Given the description of an element on the screen output the (x, y) to click on. 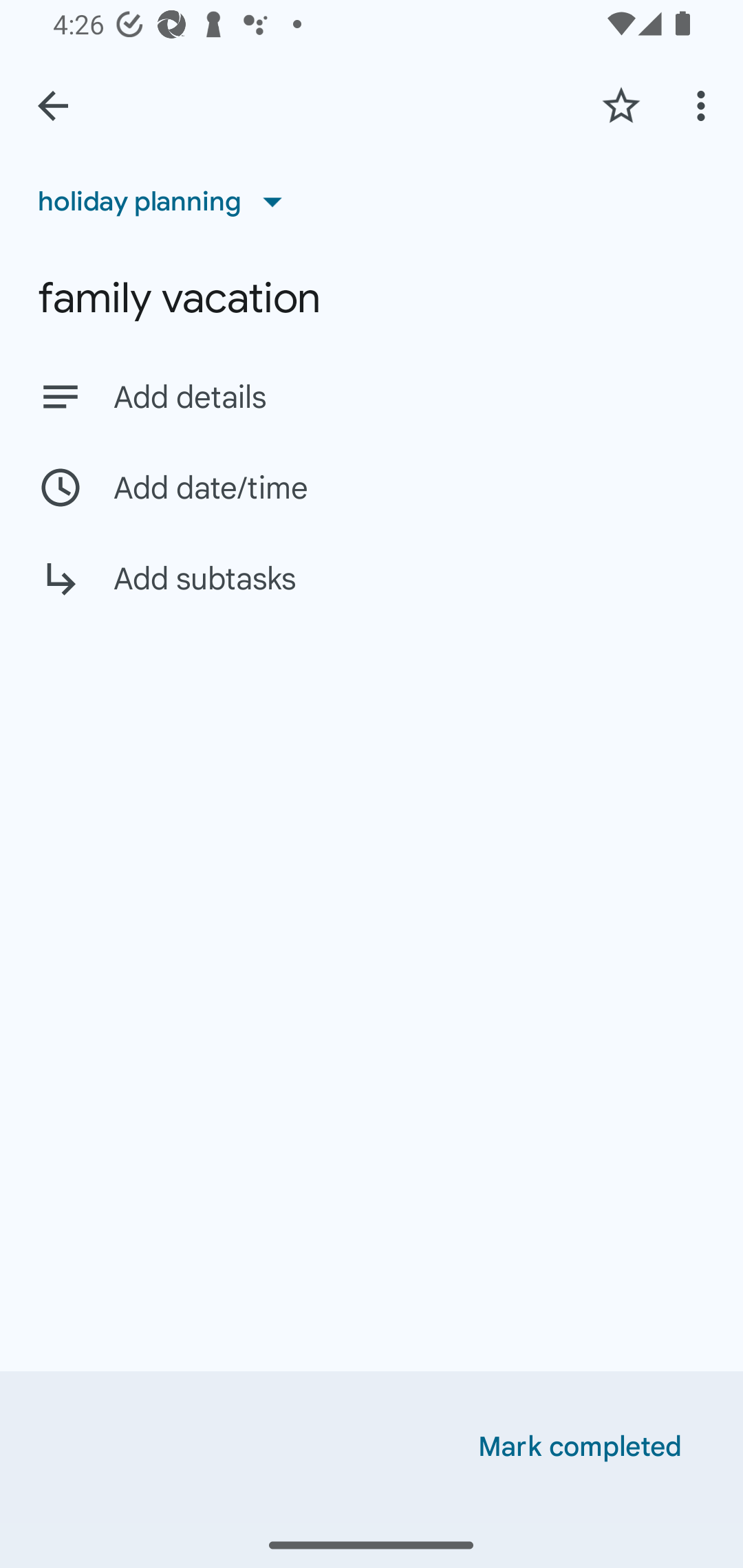
Back (53, 105)
Add star (620, 105)
More options (704, 105)
family vacation (371, 298)
Add details (371, 396)
Add details (409, 397)
Add date/time (371, 487)
Add subtasks (371, 593)
Mark completed (580, 1446)
